Given the description of an element on the screen output the (x, y) to click on. 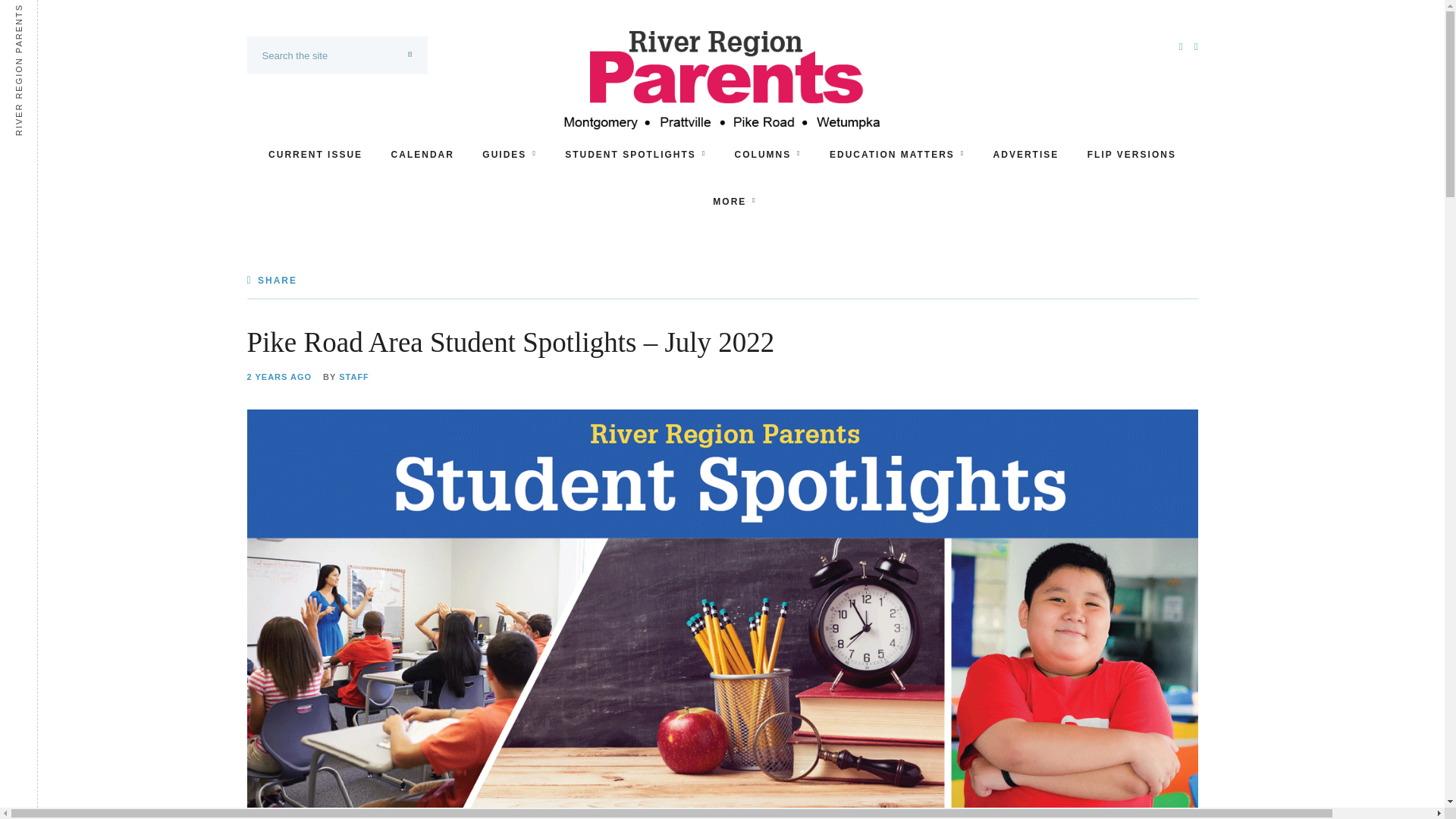
GUIDES (508, 154)
STUDENT SPOTLIGHTS (635, 154)
CALENDAR (422, 154)
CURRENT ISSUE (314, 154)
Posts by Staff (354, 375)
